Given the description of an element on the screen output the (x, y) to click on. 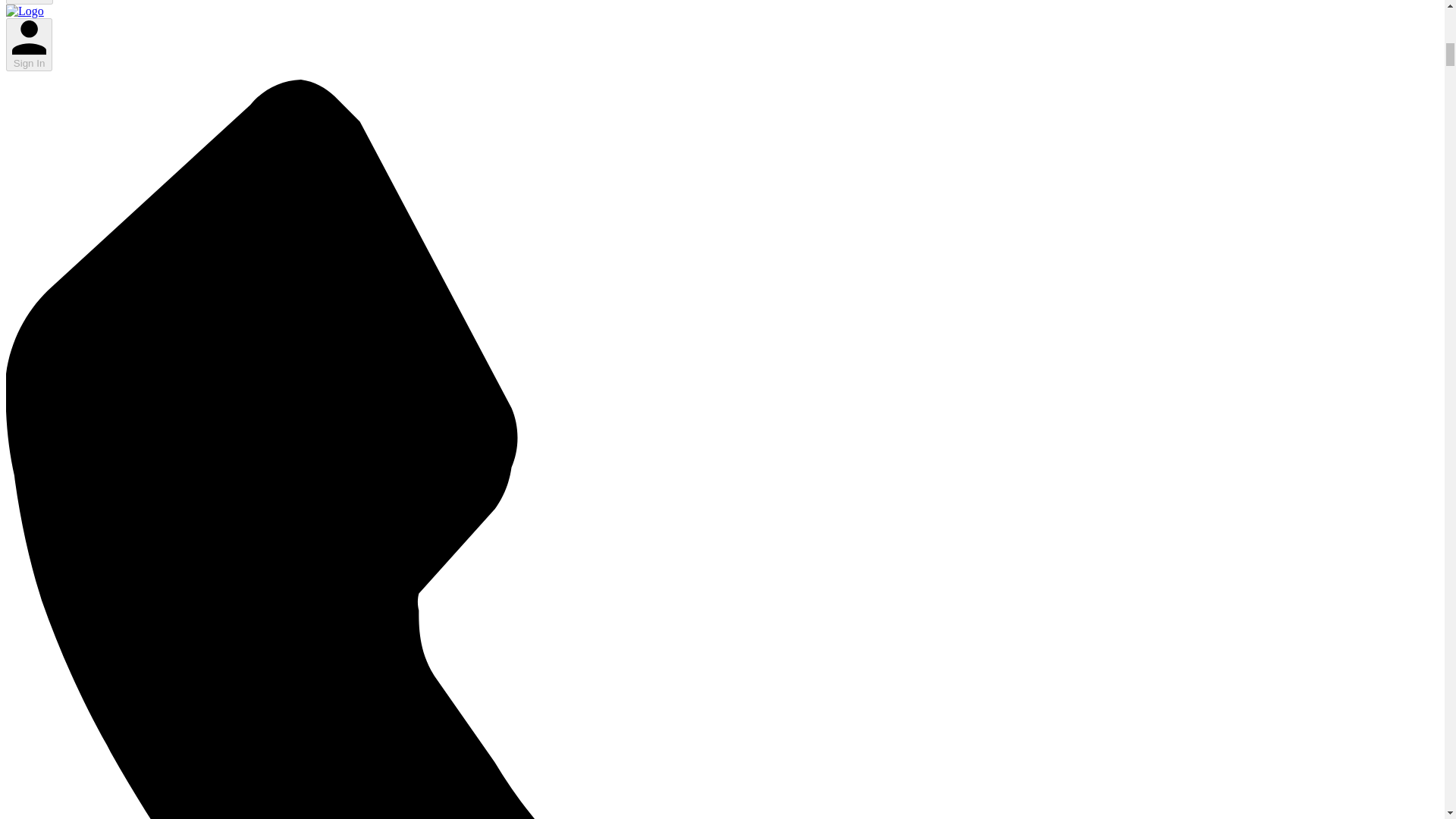
Search (28, 2)
 Logo (24, 10)
Search (28, 2)
